Given the description of an element on the screen output the (x, y) to click on. 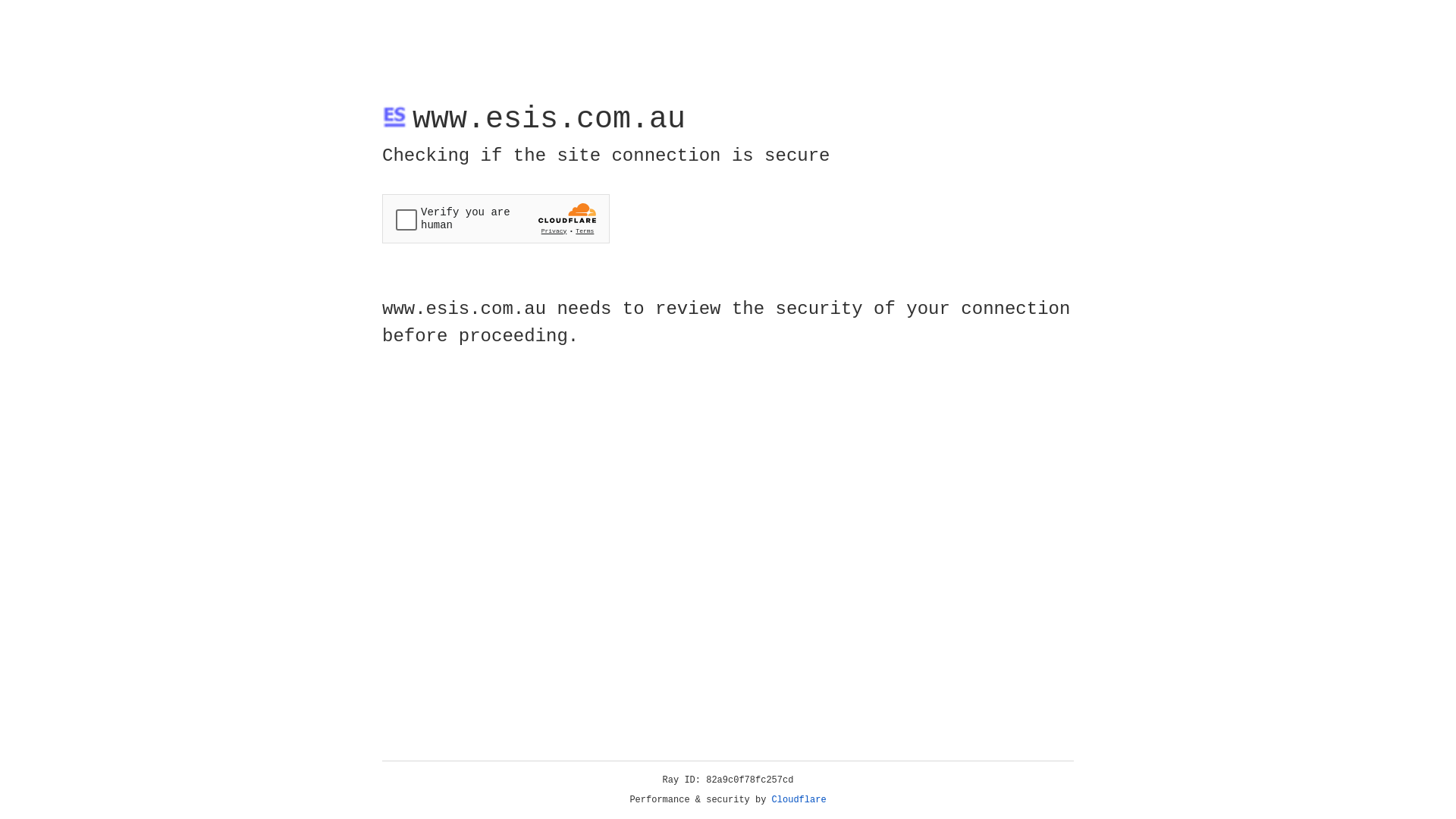
Widget containing a Cloudflare security challenge Element type: hover (495, 218)
Cloudflare Element type: text (798, 799)
